Given the description of an element on the screen output the (x, y) to click on. 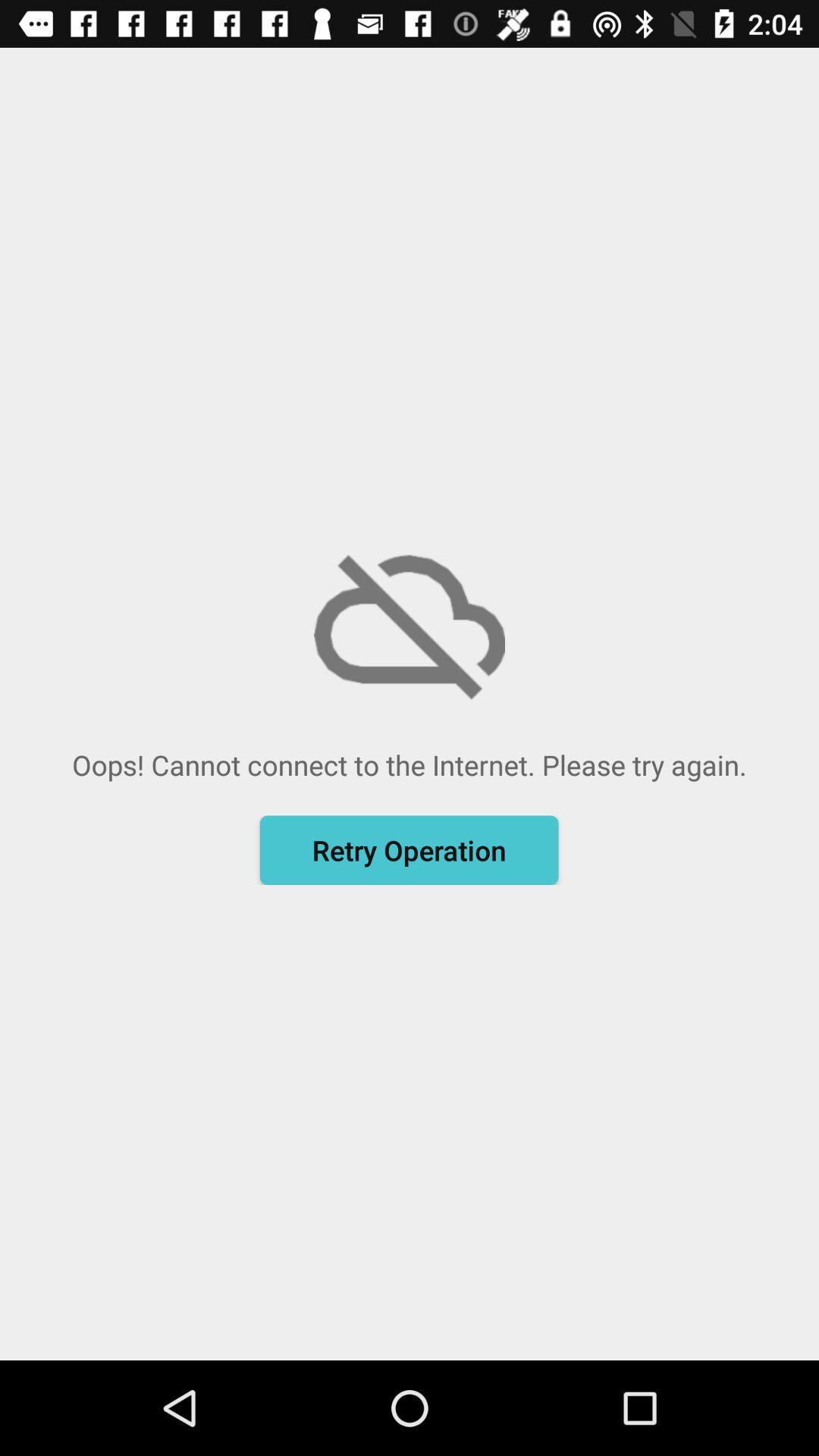
launch the icon below oops cannot connect icon (408, 849)
